Given the description of an element on the screen output the (x, y) to click on. 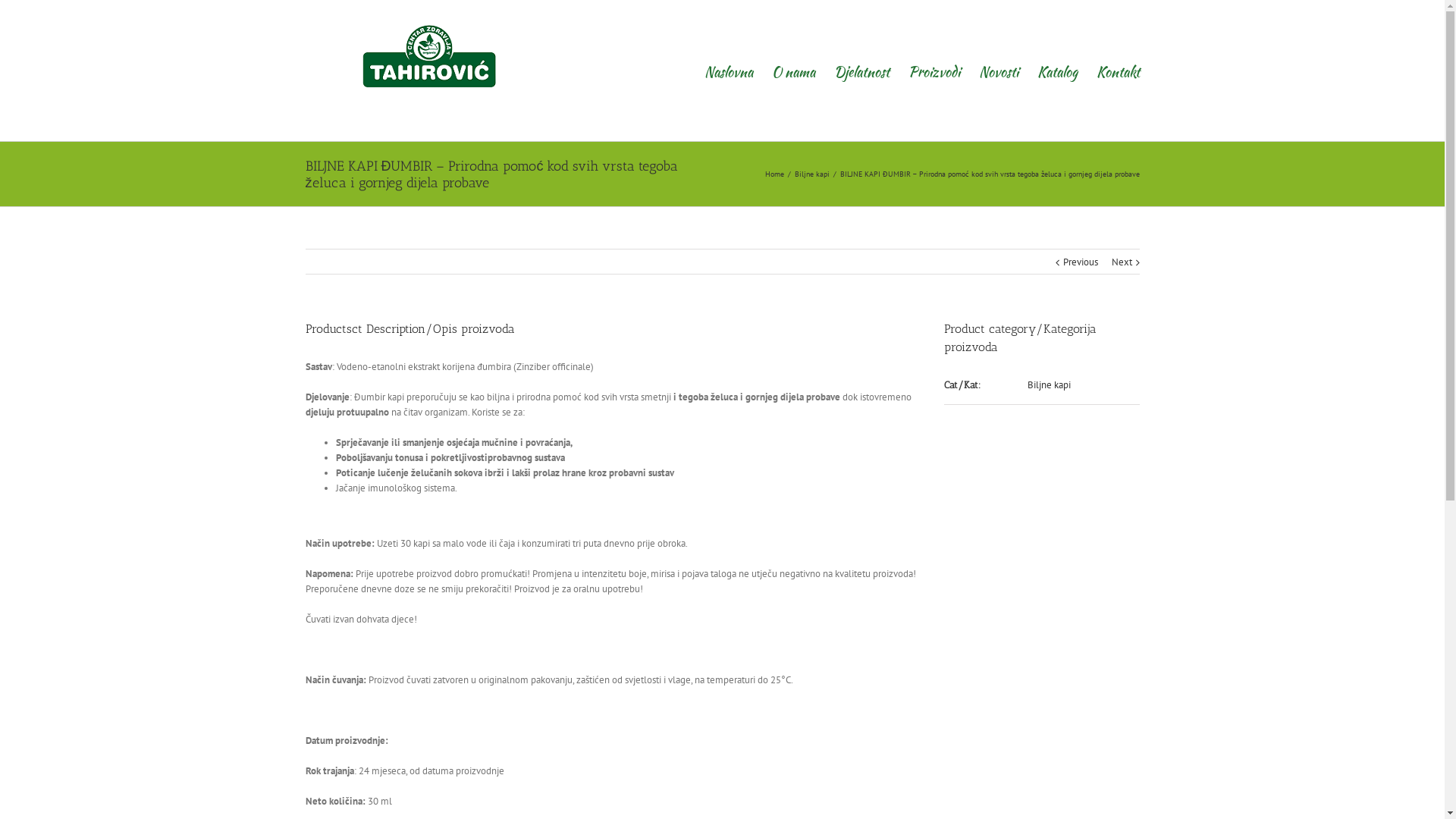
Biljne kapi Element type: text (1048, 384)
Djelatnost Element type: text (861, 70)
Katalog Element type: text (1057, 70)
Proizvodi Element type: text (934, 70)
Naslovna Element type: text (727, 70)
Previous Element type: text (1080, 262)
Next Element type: text (1121, 262)
Kontakt Element type: text (1117, 70)
Biljne kapi Element type: text (813, 173)
O nama Element type: text (793, 70)
Novosti Element type: text (997, 70)
Home Element type: text (775, 173)
